Given the description of an element on the screen output the (x, y) to click on. 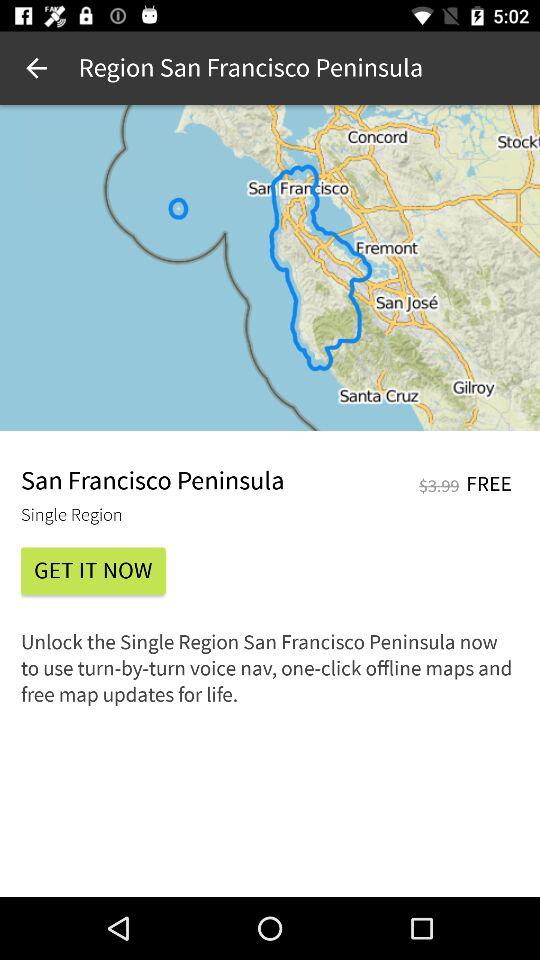
click get it now (93, 570)
